Given the description of an element on the screen output the (x, y) to click on. 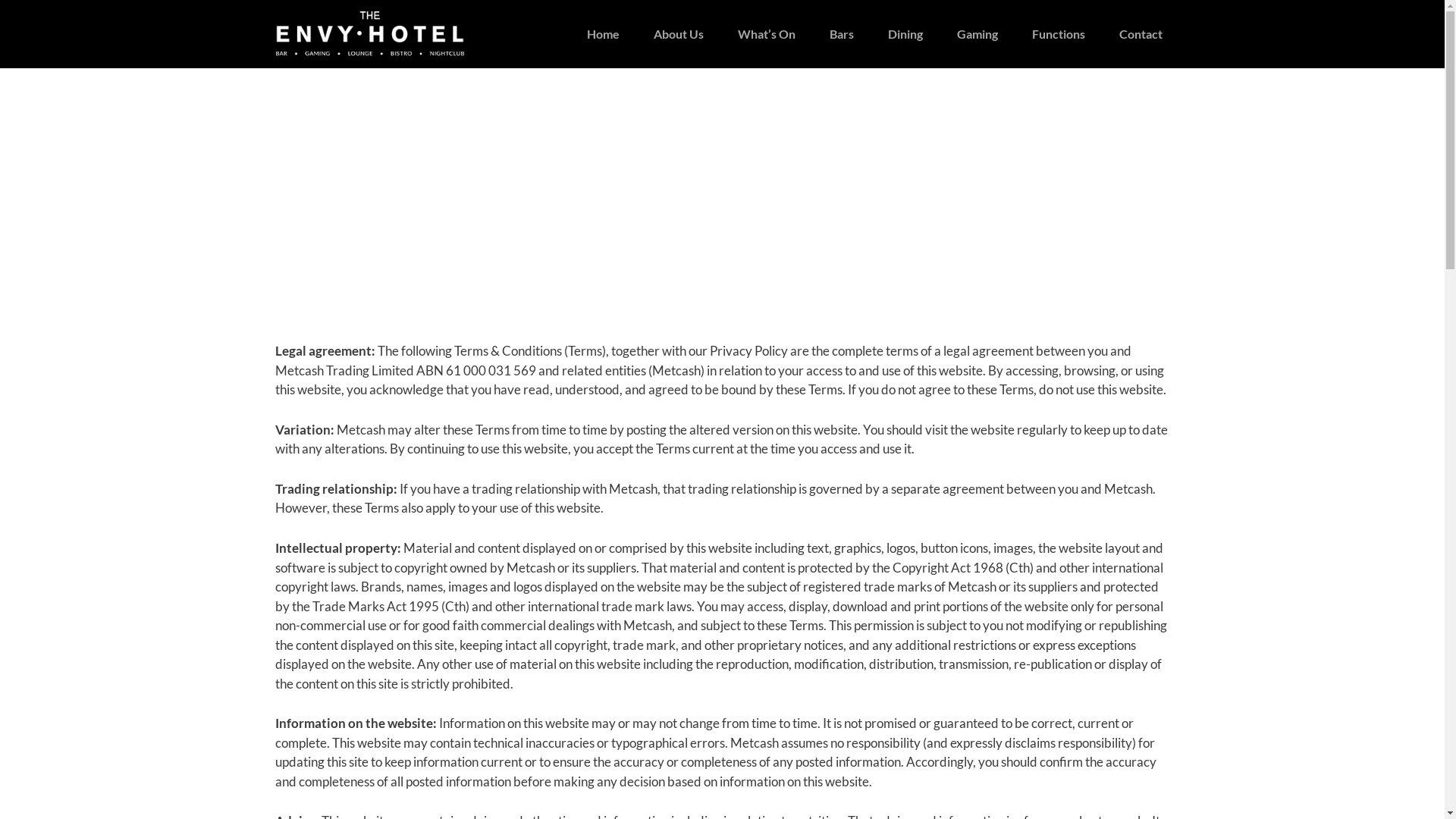
Bars Element type: text (841, 34)
Dining Element type: text (904, 34)
Home Element type: text (602, 34)
Gaming Element type: text (977, 34)
Functions Element type: text (1057, 34)
Contact Element type: text (1140, 34)
About Us Element type: text (678, 34)
